Given the description of an element on the screen output the (x, y) to click on. 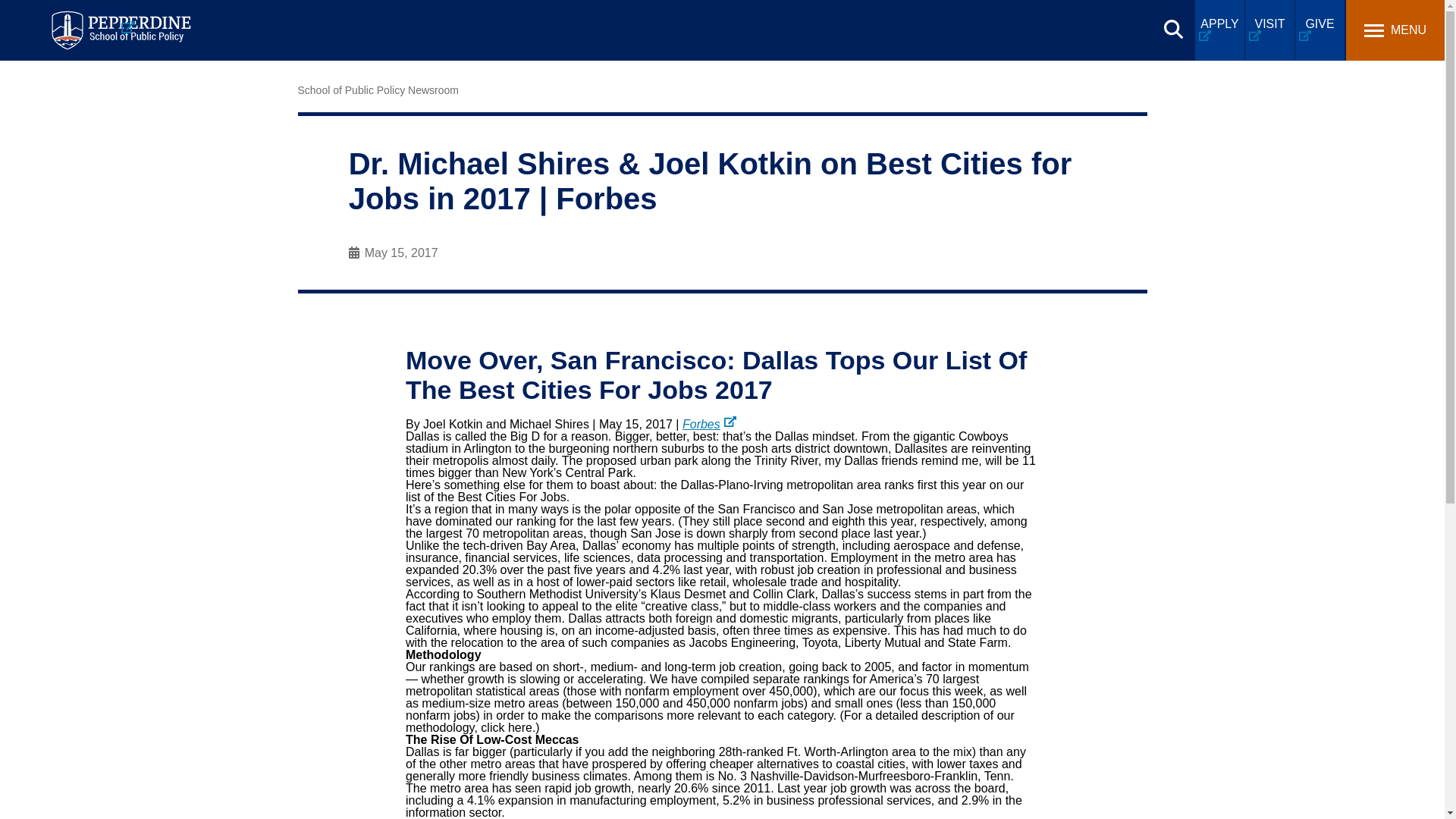
Link to External Site (709, 423)
open search (1173, 28)
Submit (390, 19)
